Given the description of an element on the screen output the (x, y) to click on. 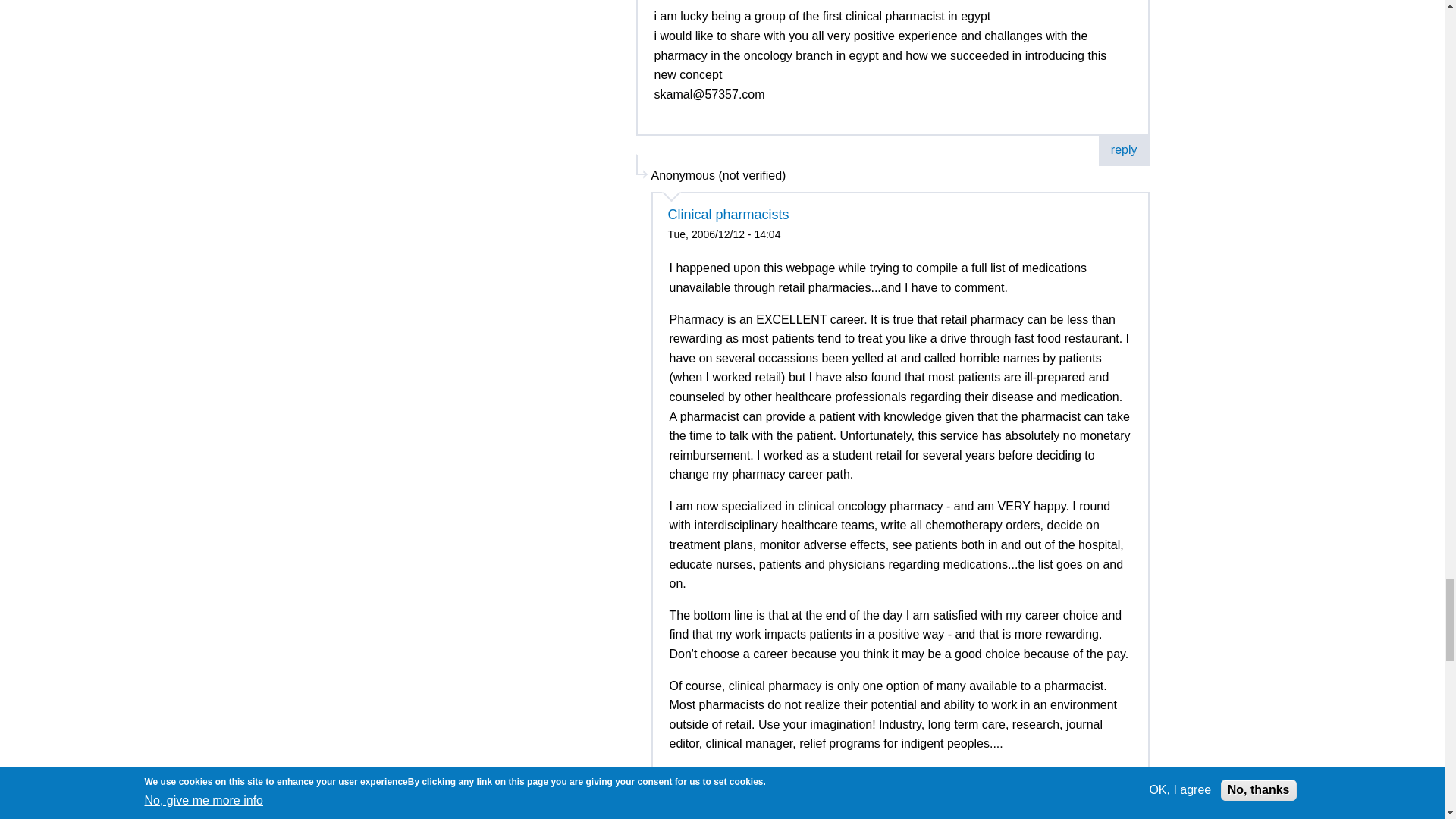
reply (1123, 149)
